Given the description of an element on the screen output the (x, y) to click on. 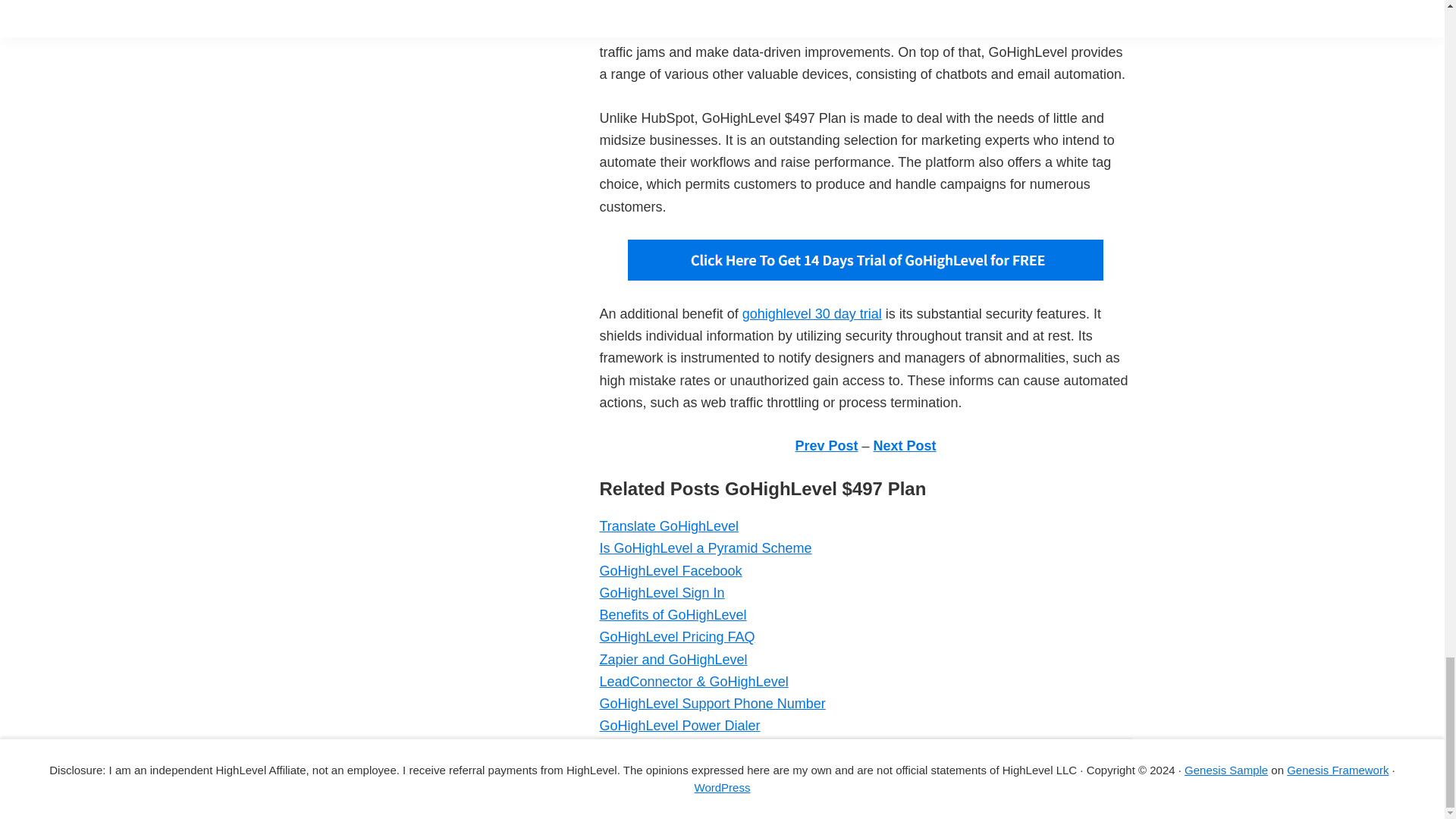
GoHighLevel Facebook (669, 570)
Zapier and GoHighLevel (672, 659)
Benefits of GoHighLevel (671, 614)
GoHighLevel Support Phone Number (711, 703)
Is GoHighLevel a Pyramid Scheme (704, 548)
GoHighLevel Support Phone Number (711, 703)
GoHighLevel Facebook (669, 570)
GoHighLevel Pricing FAQ (676, 636)
Zapier and GoHighLevel (672, 659)
GoHighLevel Sign In (660, 592)
